Given the description of an element on the screen output the (x, y) to click on. 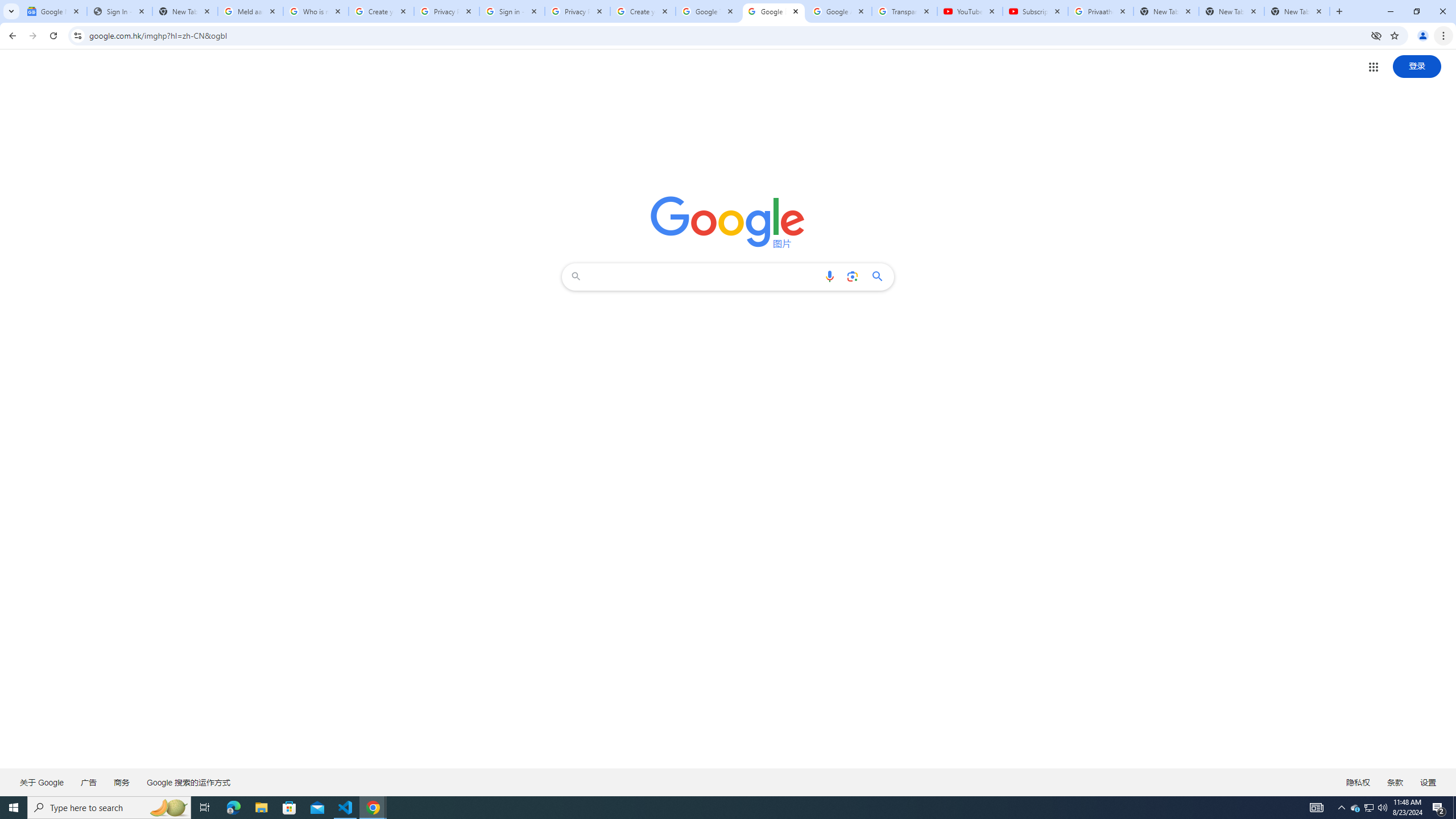
Subscriptions - YouTube (1035, 11)
Create your Google Account (643, 11)
Sign In - USA TODAY (119, 11)
